Given the description of an element on the screen output the (x, y) to click on. 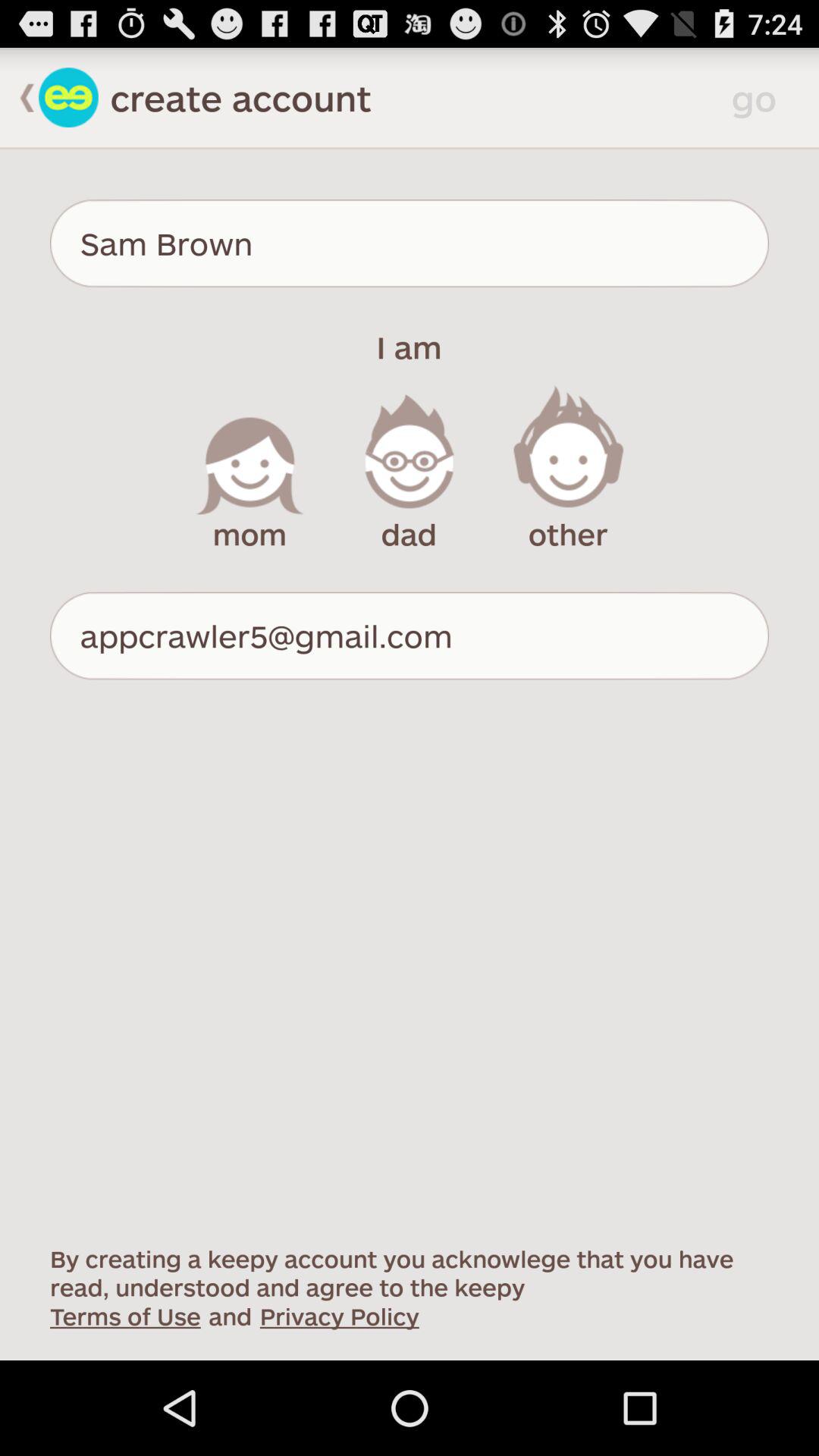
back to profile (68, 97)
